Given the description of an element on the screen output the (x, y) to click on. 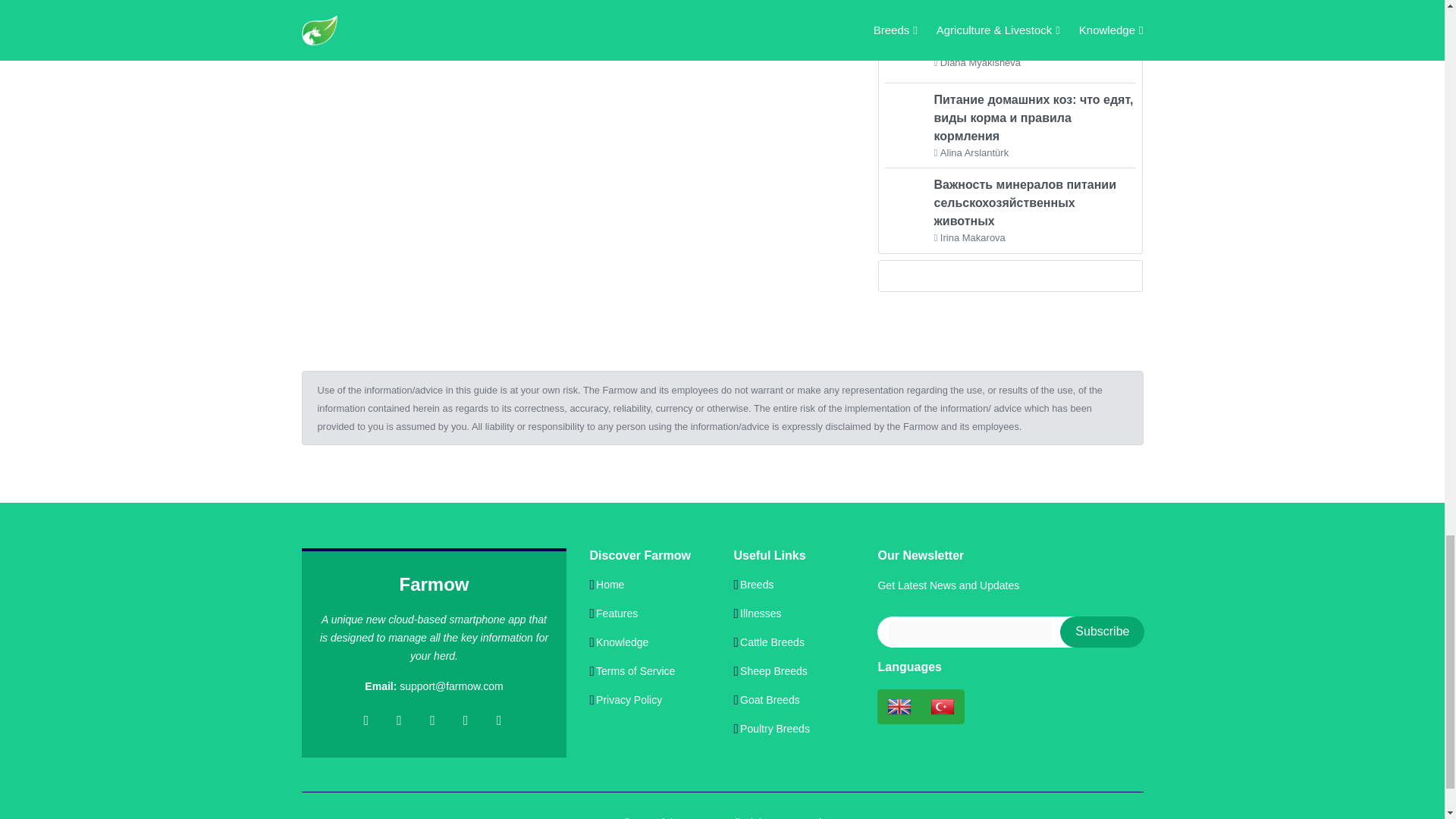
Subscribe (1101, 631)
